Given the description of an element on the screen output the (x, y) to click on. 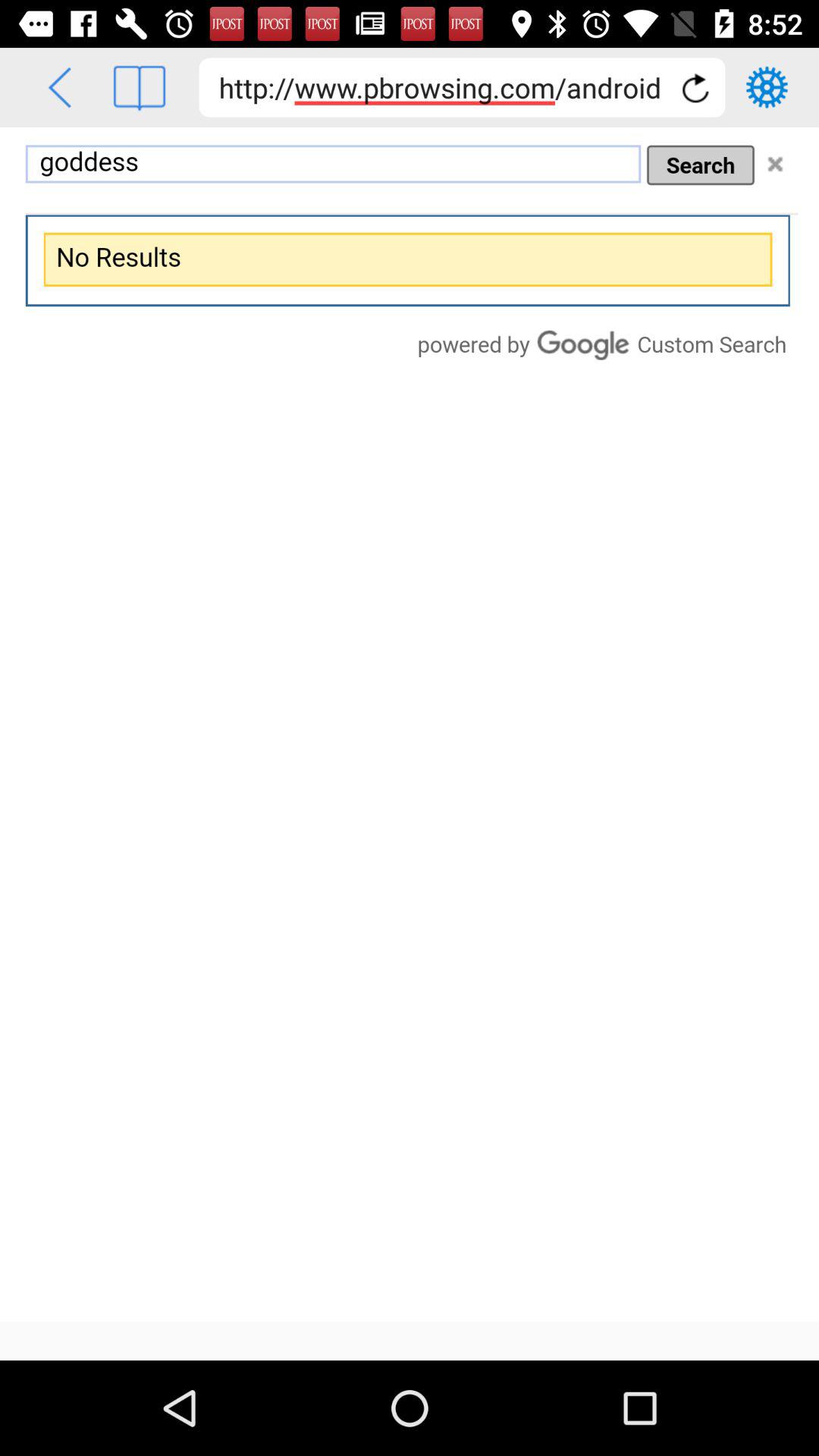
goto settings (766, 87)
